Given the description of an element on the screen output the (x, y) to click on. 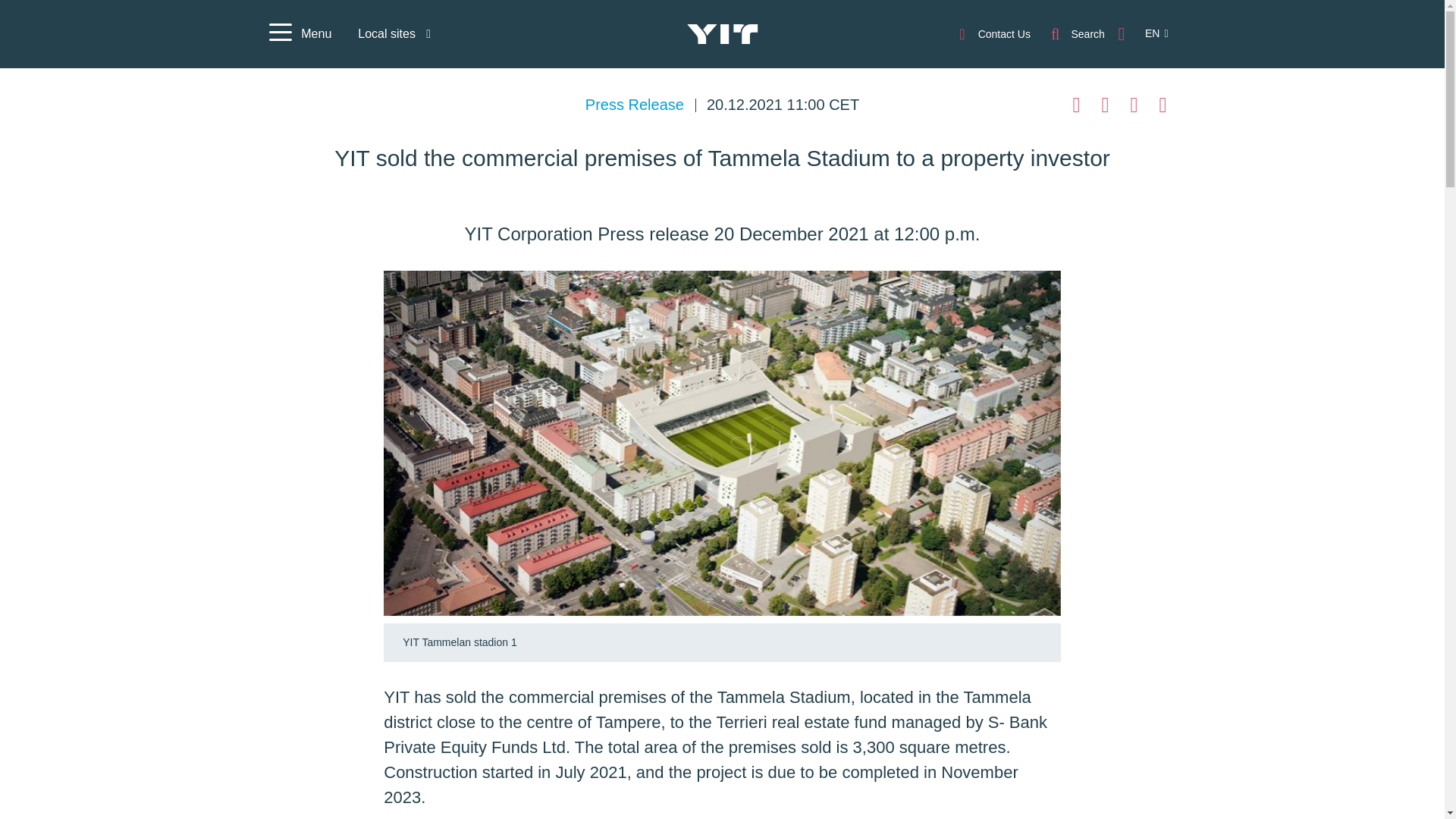
EN (1147, 33)
Search (1076, 33)
Menu (298, 34)
Local sites (393, 33)
Contact Us (992, 33)
